Given the description of an element on the screen output the (x, y) to click on. 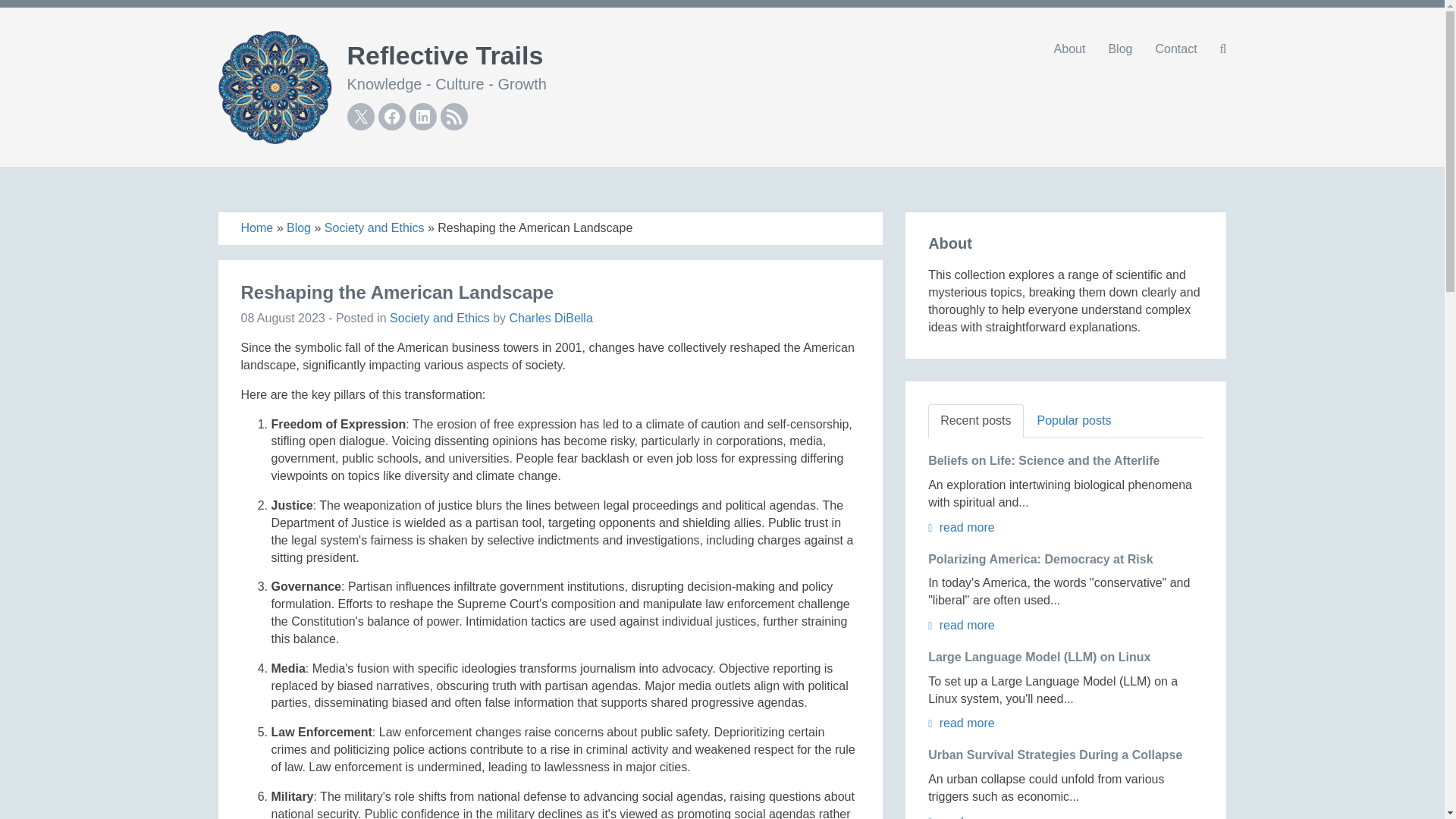
RSS (453, 116)
Blog (1119, 48)
Urban Survival Strategies During a Collapse (1055, 754)
Home (257, 227)
Recent posts (975, 421)
Contact (1175, 48)
Reflective Trails (445, 54)
read more (961, 722)
read more (961, 625)
Beliefs on Life: Science and the Afterlife (1043, 460)
